Given the description of an element on the screen output the (x, y) to click on. 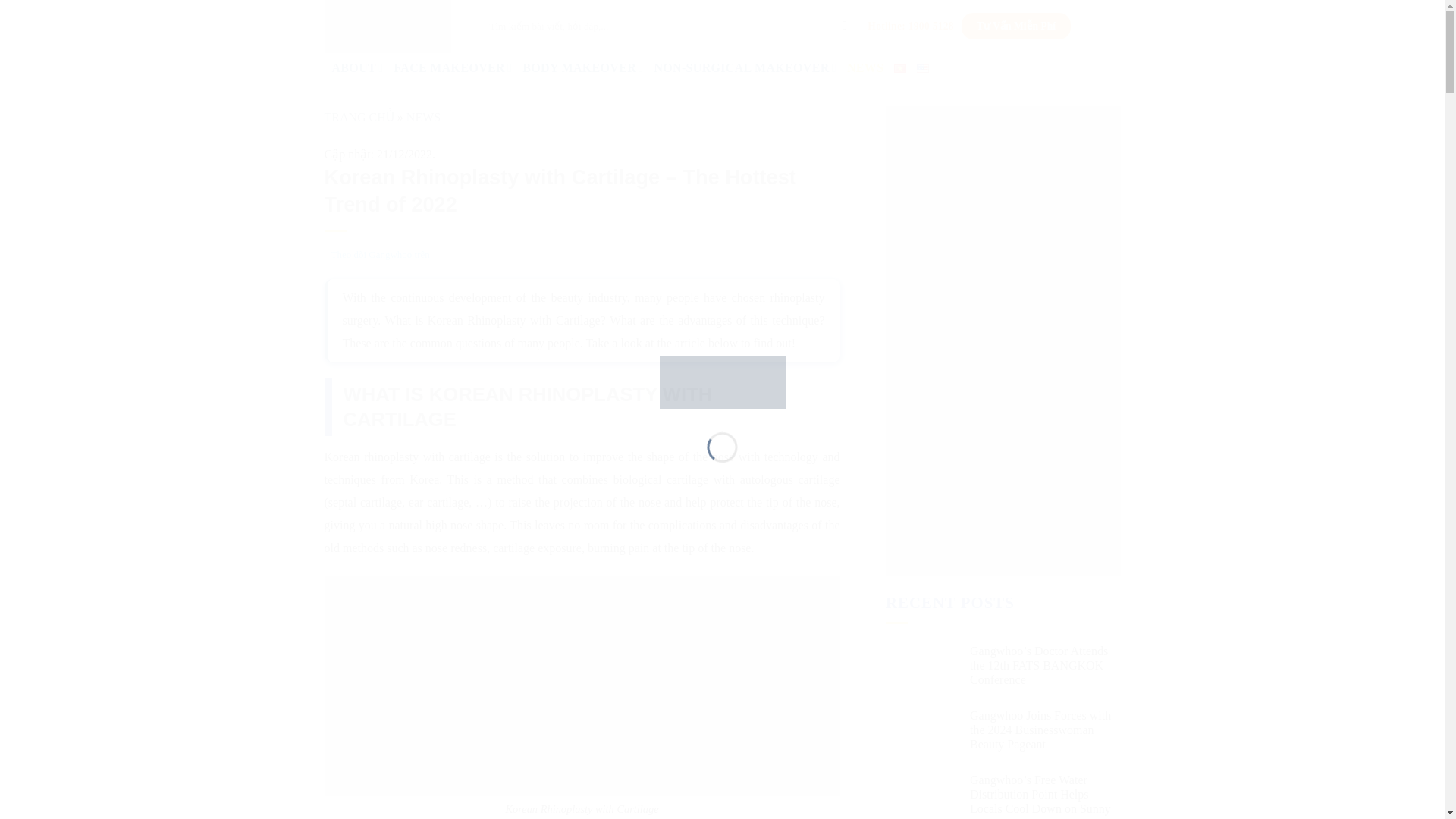
Nose Makeover (104, 291)
Korean Incisional Blepharoplasty (207, 497)
Complete Nose Revision (187, 449)
Nanoform Rhinoplasty (181, 363)
Eyelid Method Blepharoplasty (199, 509)
Skip to content (45, 11)
Rhinoplasty (125, 303)
Photos (83, 251)
Rhinoplasty Using Cartilage (195, 339)
About Gangwhoo Cosmetic Hospital (153, 215)
